Given the description of an element on the screen output the (x, y) to click on. 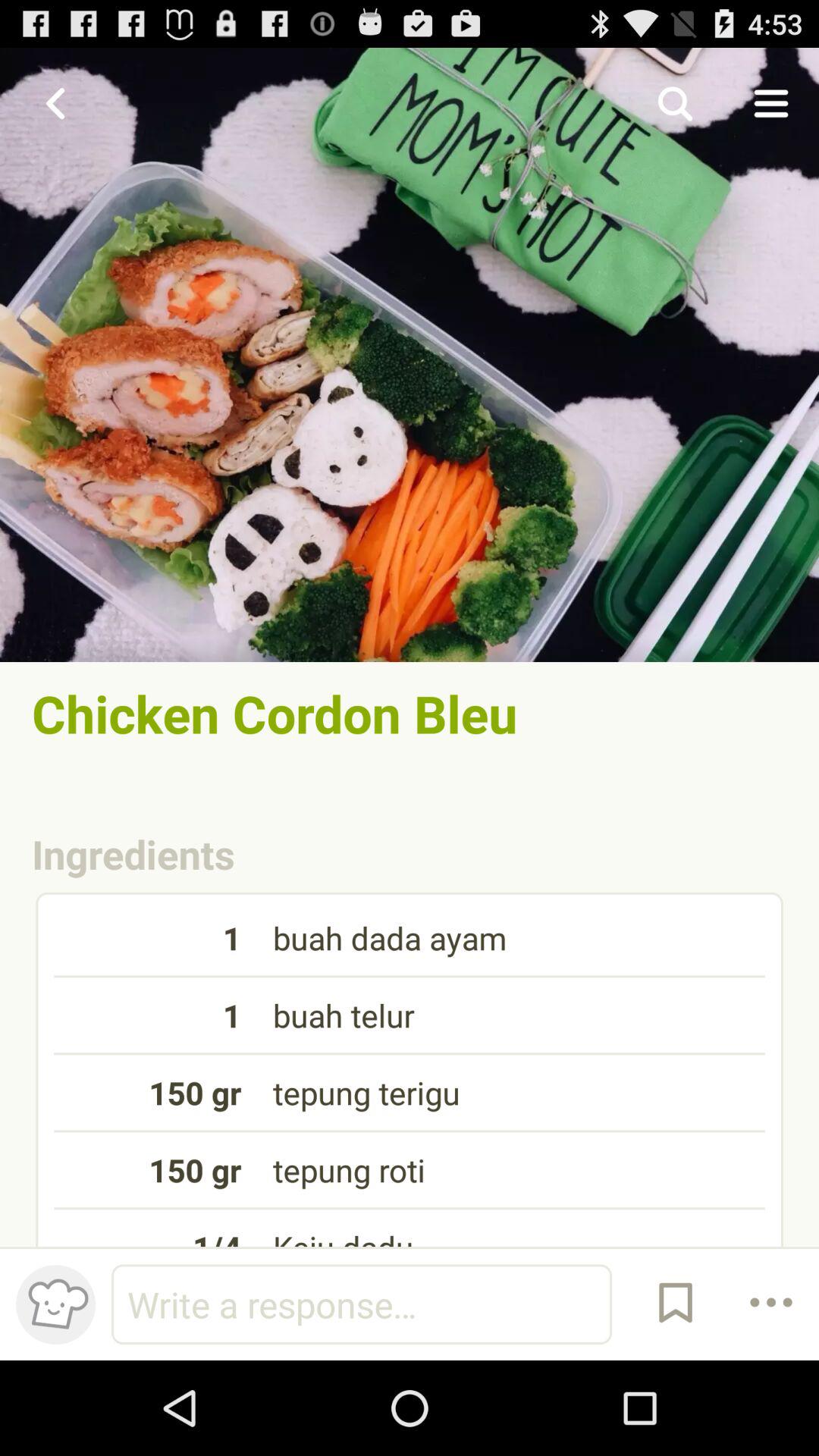
move to the five lined text below the text ingredients (409, 1067)
